Given the description of an element on the screen output the (x, y) to click on. 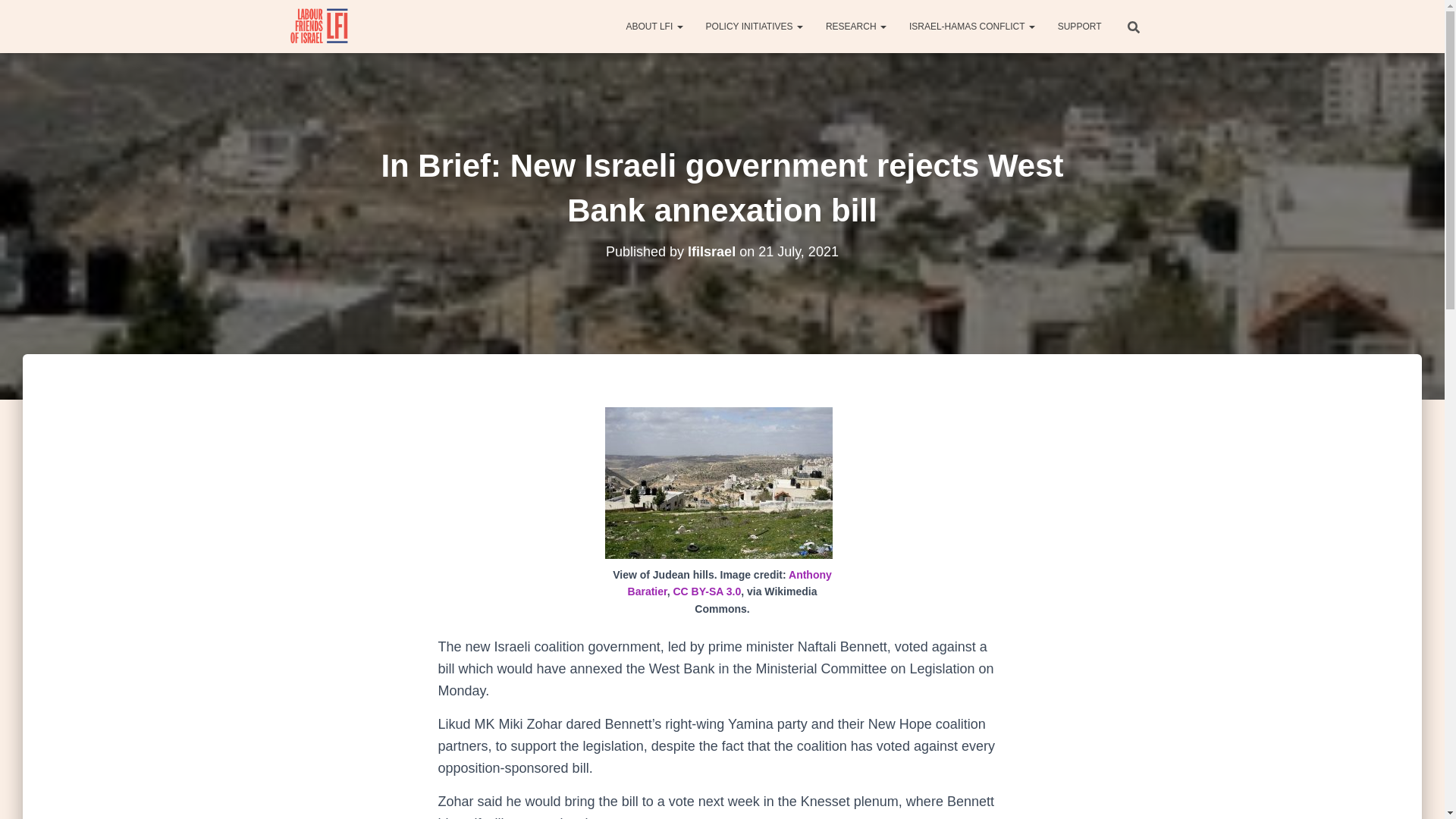
About LFI (654, 26)
ISRAEL-HAMAS CONFLICT (972, 26)
ABOUT LFI (654, 26)
Research (855, 26)
CC BY-SA 3.0 (706, 591)
lfiIsrael (711, 251)
Anthony Baratier (729, 583)
Labour Friends of Israel (320, 26)
SUPPORT (1079, 26)
Policy Initiatives (753, 26)
